Given the description of an element on the screen output the (x, y) to click on. 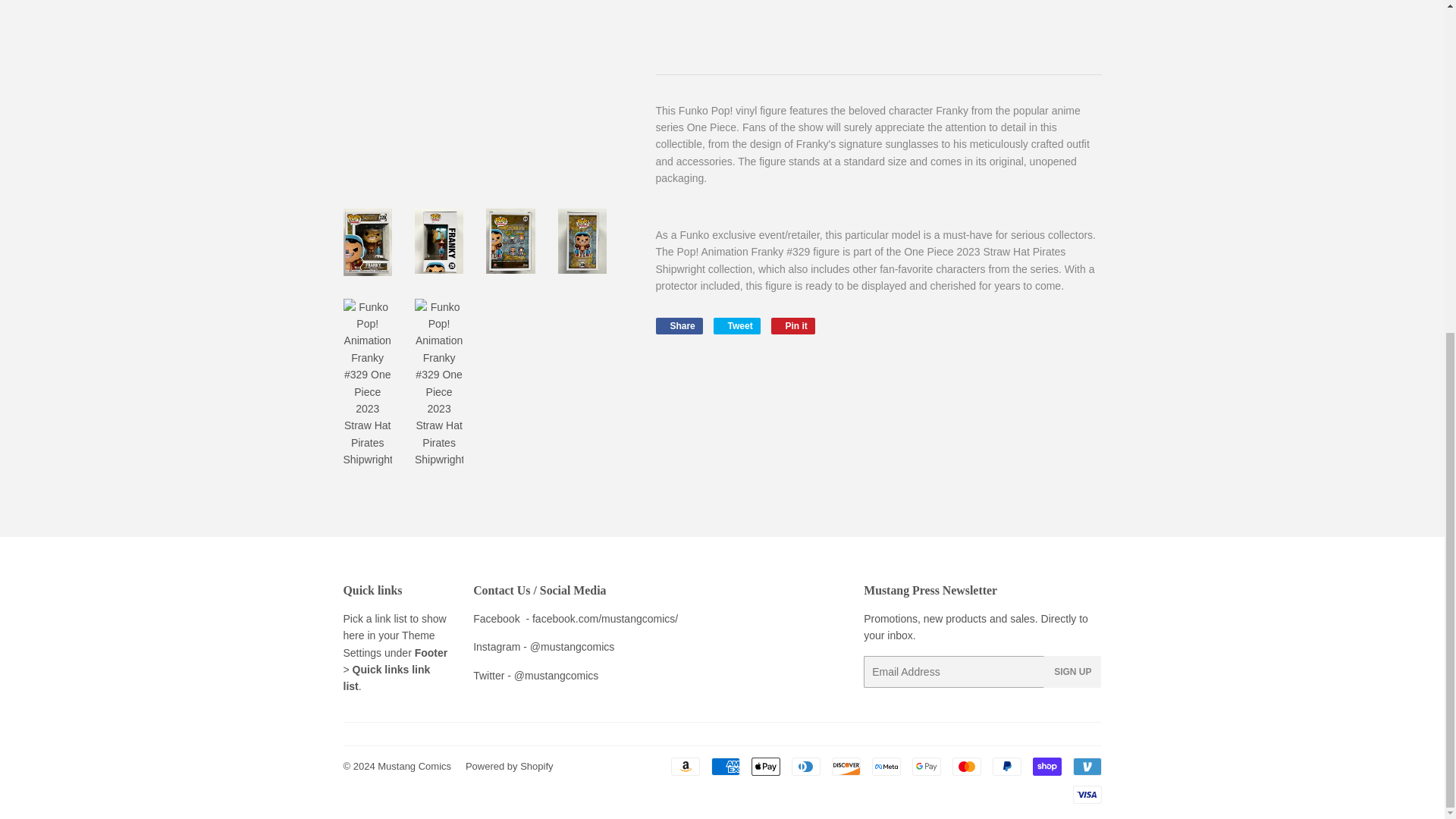
PayPal (1005, 766)
Pin on Pinterest (793, 325)
Share on Facebook (678, 325)
Discover (845, 766)
Tweet on Twitter (736, 325)
Mastercard (966, 766)
Amazon (683, 766)
American Express (725, 766)
Apple Pay (764, 766)
Meta Pay (886, 766)
